Given the description of an element on the screen output the (x, y) to click on. 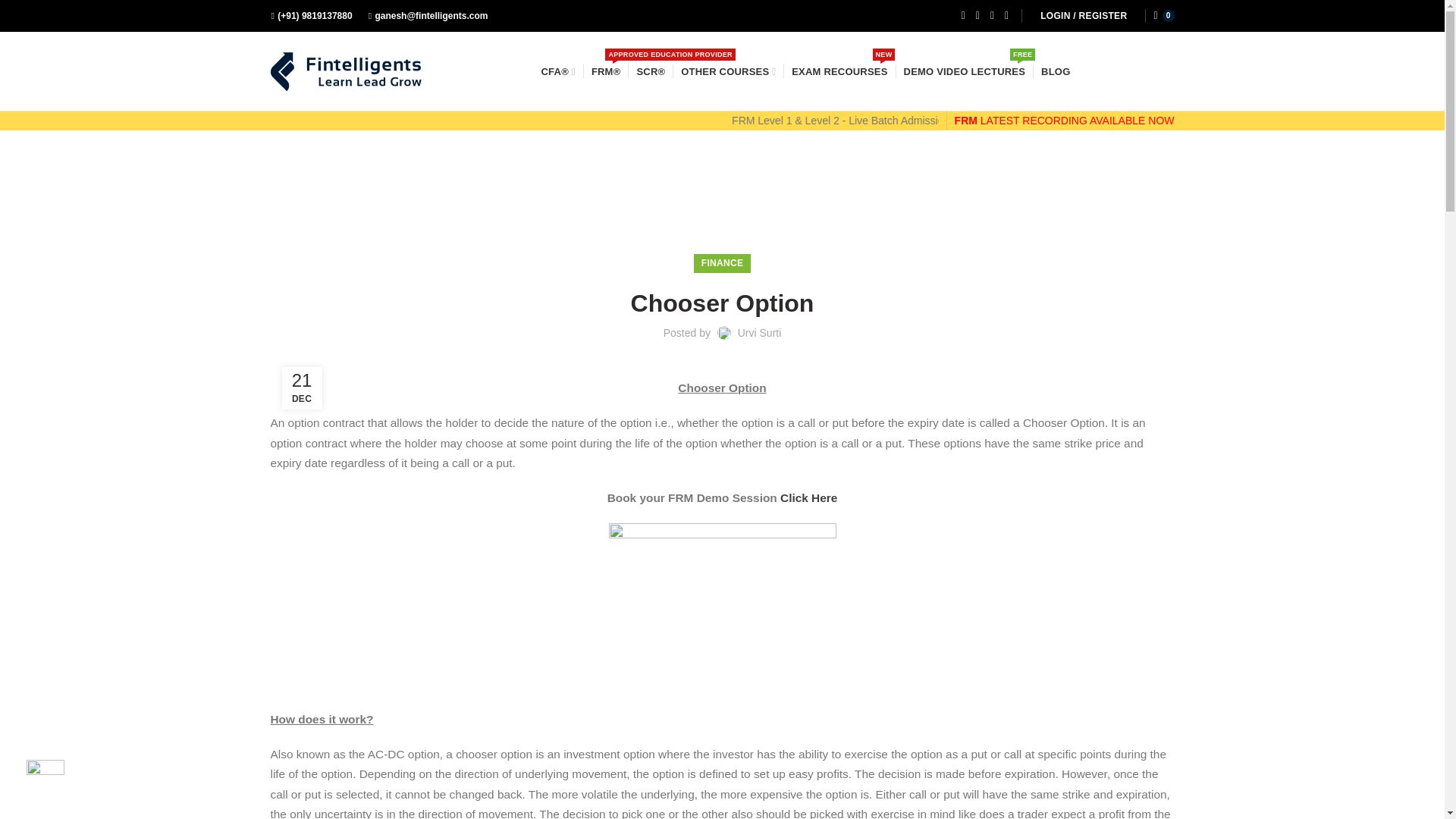
HOME (290, 199)
FINANCE (330, 198)
Click Here (808, 497)
FINANCE (964, 71)
Urvi Surti (721, 262)
BLOG (839, 71)
OTHER COURSES (759, 332)
0 (1055, 71)
